Given the description of an element on the screen output the (x, y) to click on. 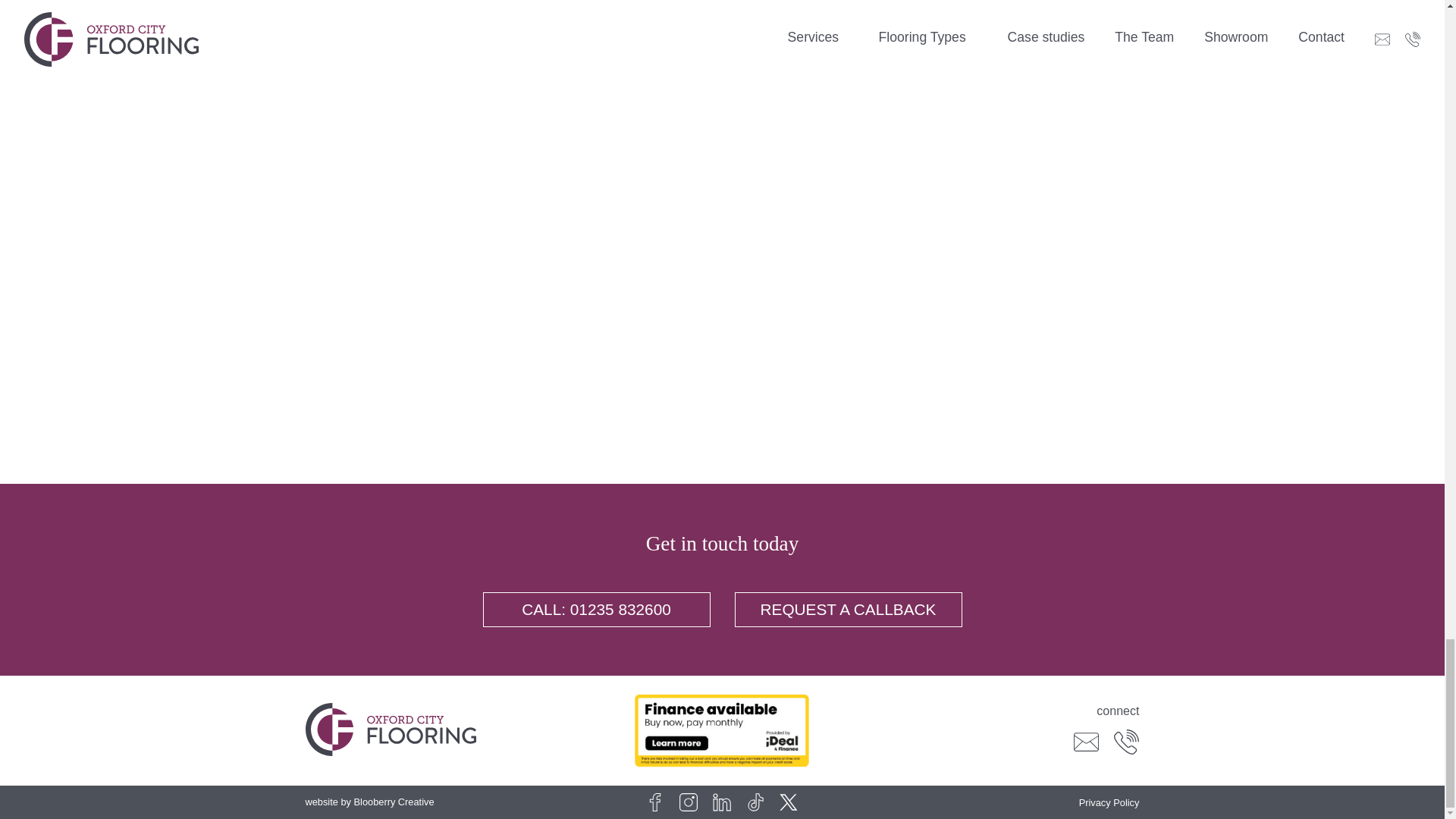
REQUEST A CALLBACK (846, 609)
CALL: 01235 832600 (595, 609)
